Given the description of an element on the screen output the (x, y) to click on. 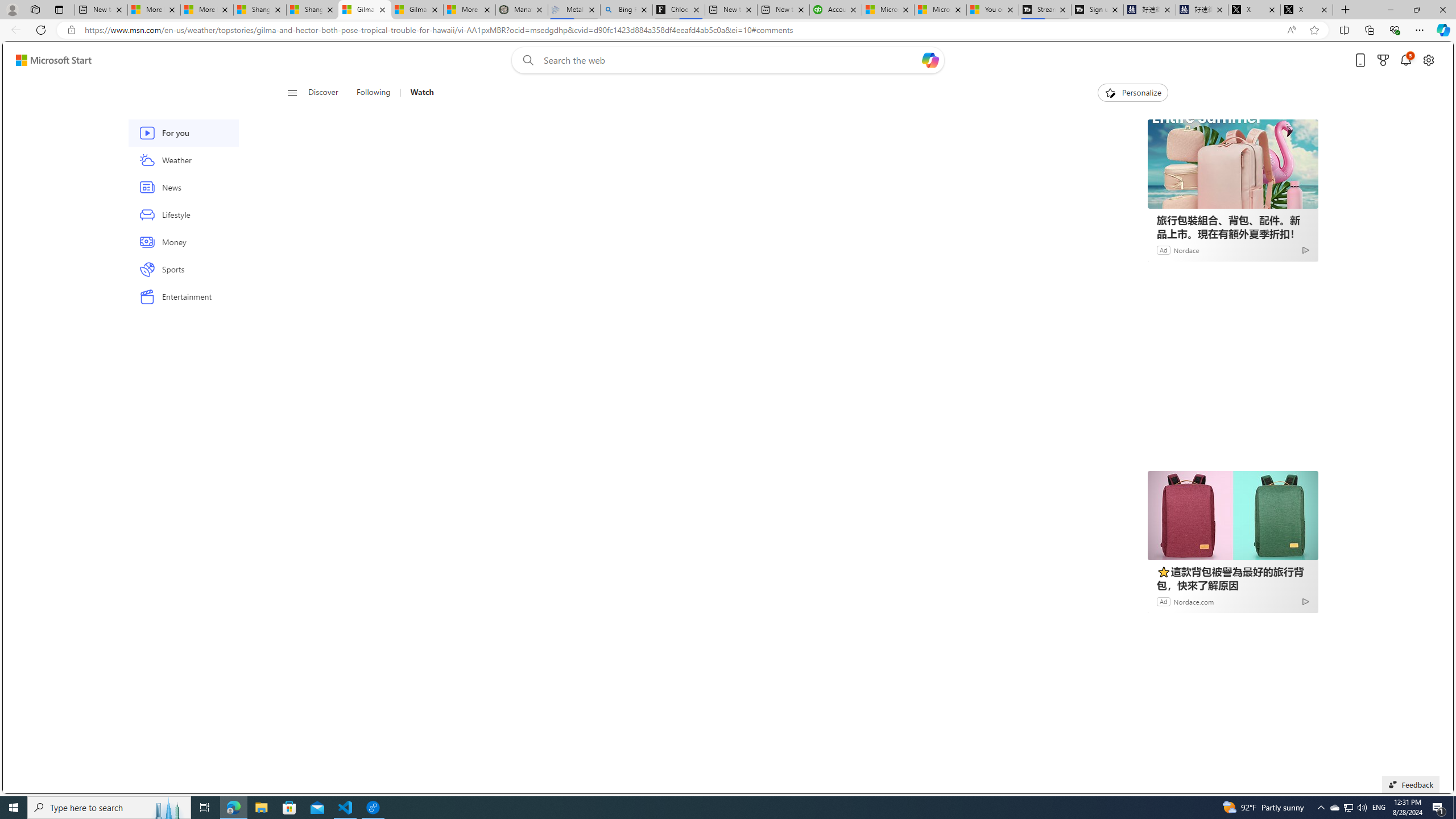
Microsoft rewards (1382, 60)
